Given the description of an element on the screen output the (x, y) to click on. 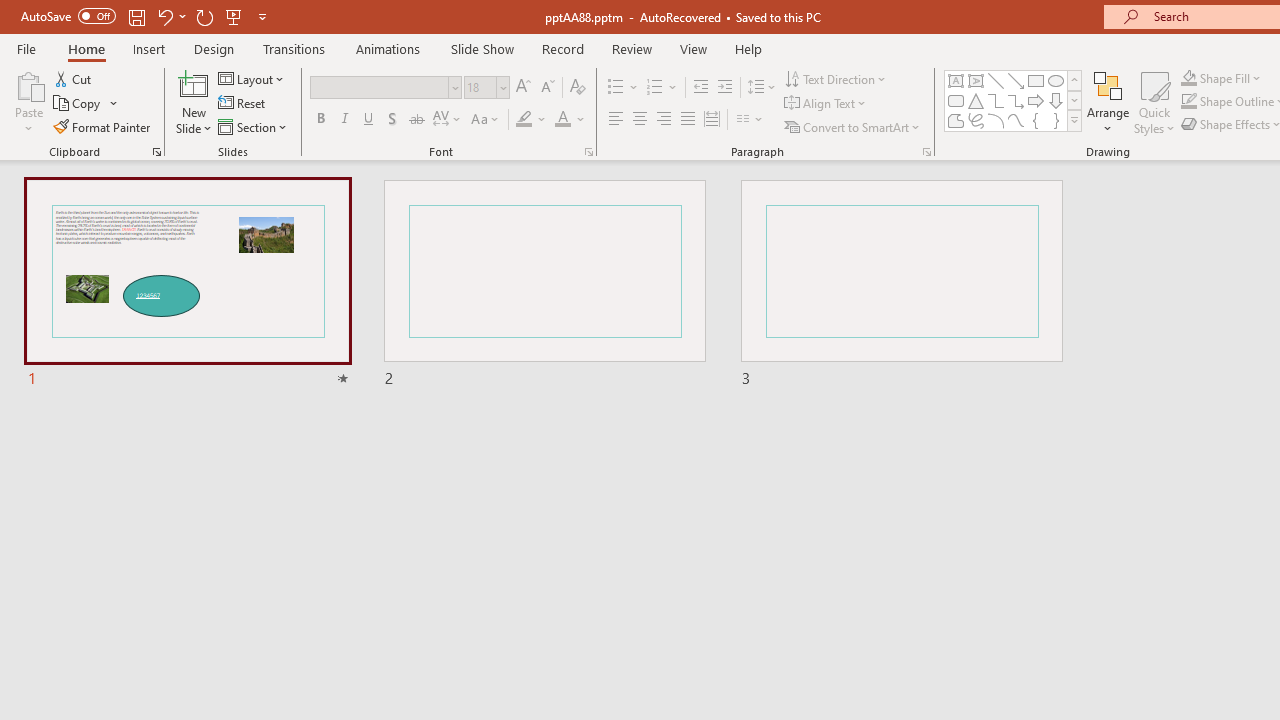
Shape Outline Teal, Accent 1 (1188, 101)
